Given the description of an element on the screen output the (x, y) to click on. 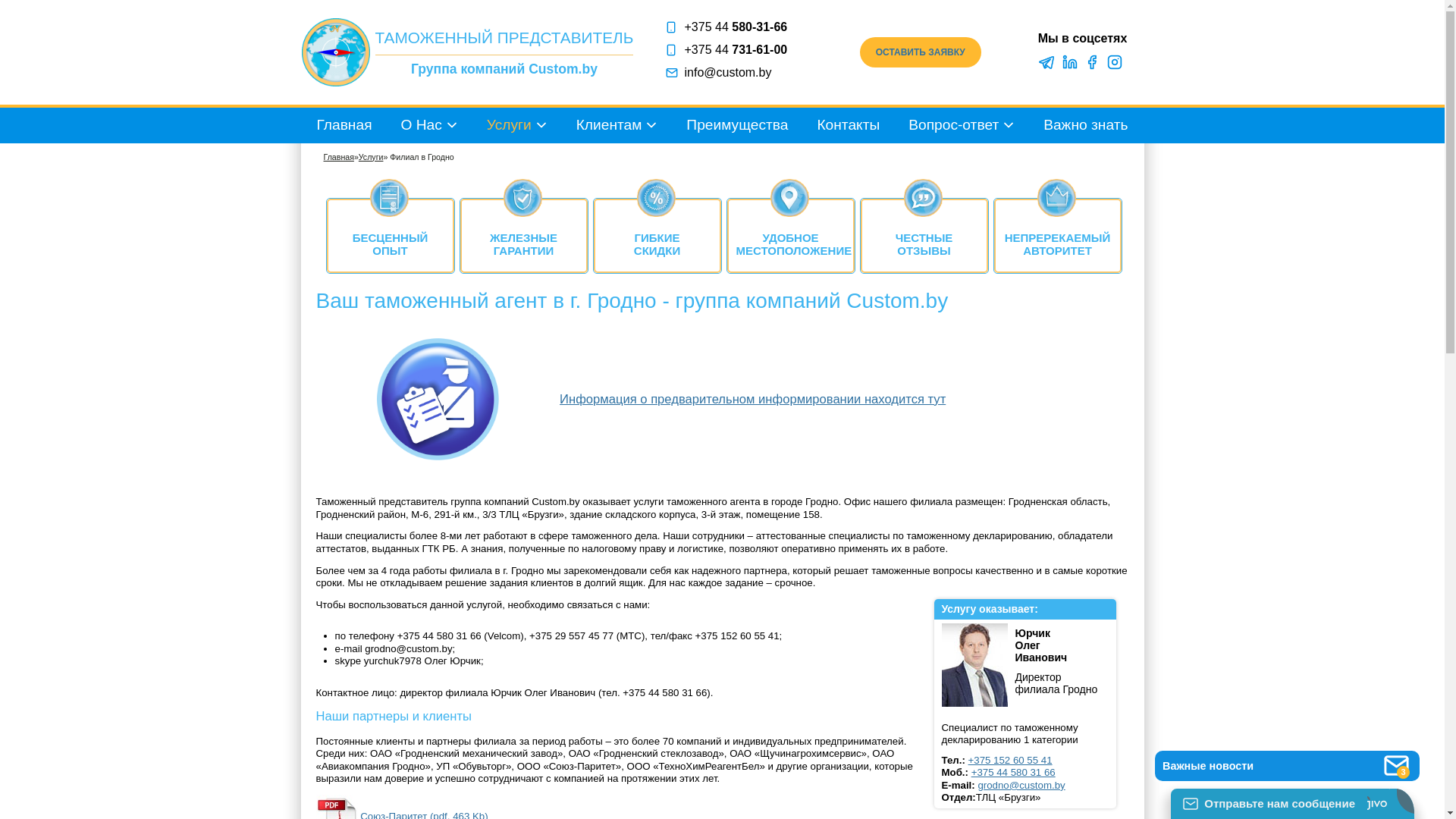
info@custom.by Element type: text (740, 72)
+375 152 60 55 41 Element type: text (1010, 759)
+375 44 580-31-66 Element type: text (740, 27)
grodno@custom.by Element type: text (1020, 784)
+375 44 580 31 66 Element type: text (1013, 772)
+375 44 731-61-00 Element type: text (740, 49)
